Given the description of an element on the screen output the (x, y) to click on. 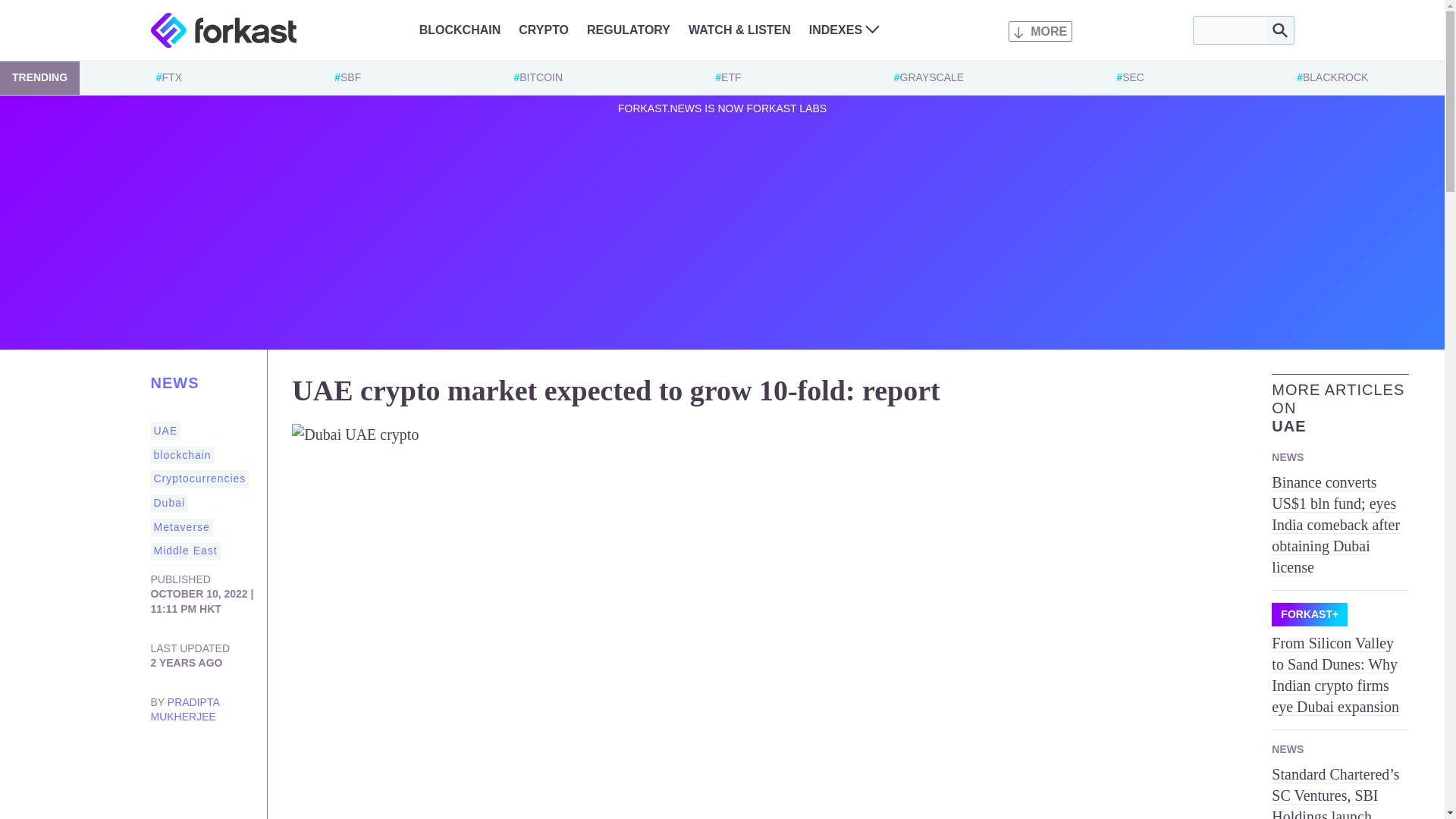
Posts by Pradipta Mukherjee (184, 709)
Share on line (222, 790)
Share on telegram (161, 790)
Share on linkedin (192, 761)
BLOCKCHAIN (459, 29)
Share on facebook (222, 761)
CRYPTO (543, 29)
REGULATORY (627, 29)
